Given the description of an element on the screen output the (x, y) to click on. 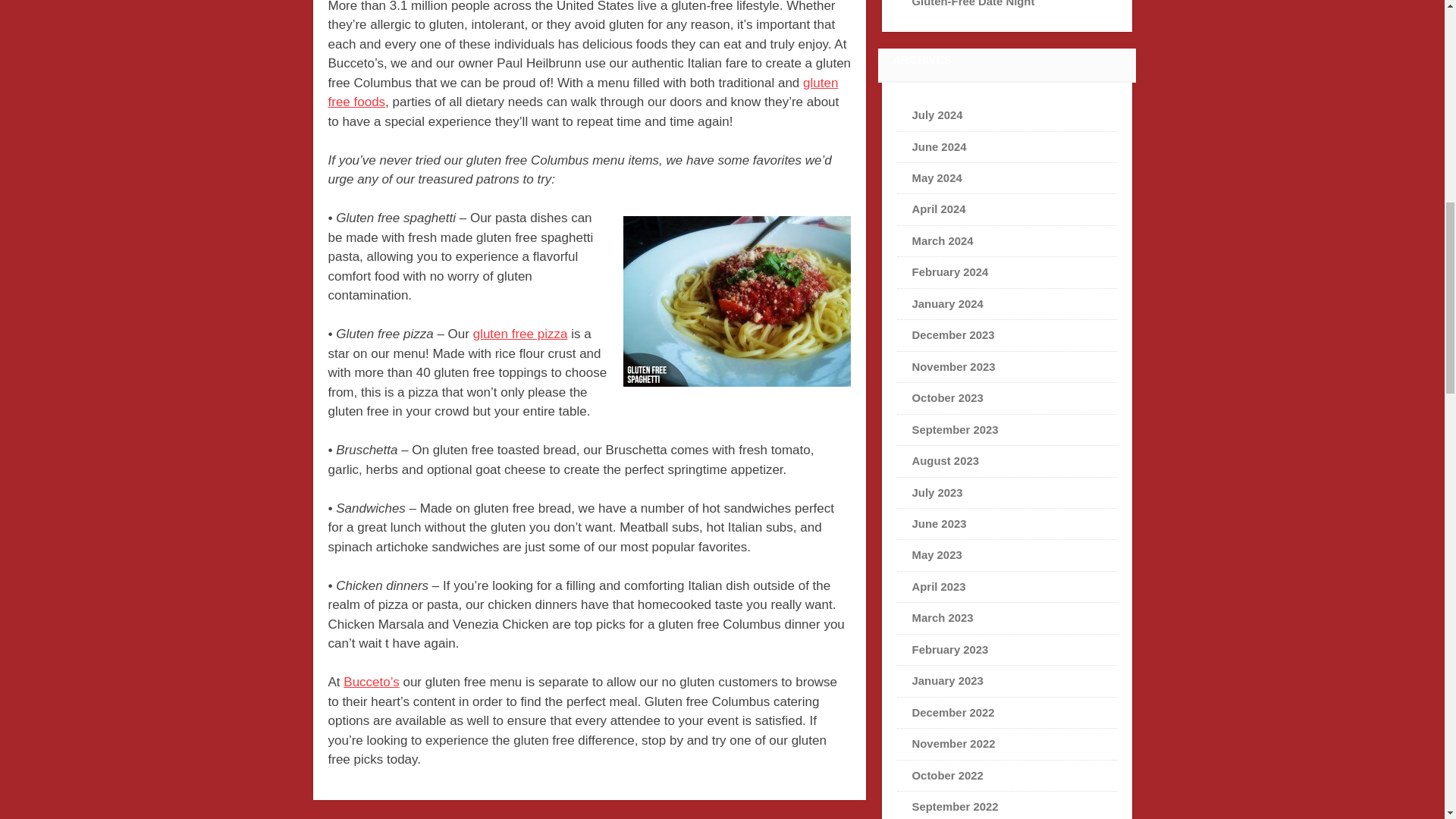
gluten free pizza (520, 333)
Plan A Delicious Gluten-Free Date Night (999, 3)
April 2024 (939, 209)
July 2024 (937, 114)
gluten free foods (582, 92)
March 2024 (943, 241)
February 2024 (950, 272)
May 2024 (937, 177)
June 2024 (939, 146)
